Given the description of an element on the screen output the (x, y) to click on. 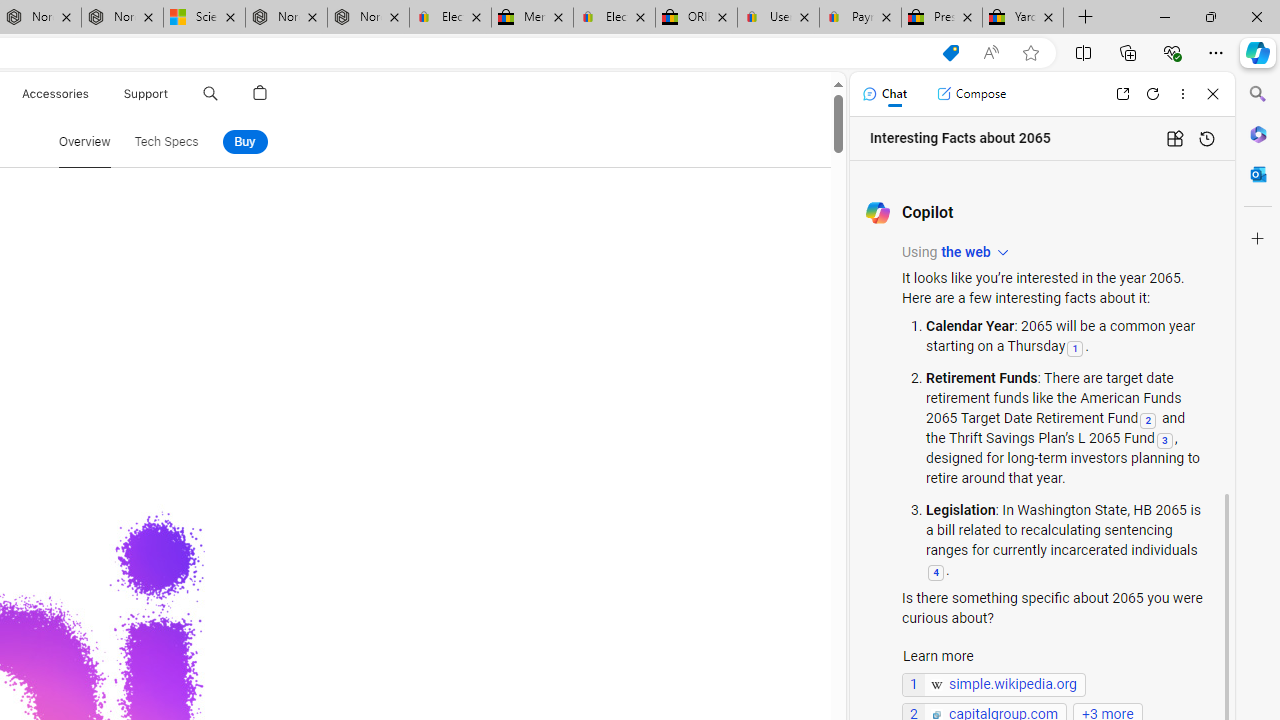
Support (146, 93)
Accessories (54, 93)
Accessories menu (91, 93)
